Given the description of an element on the screen output the (x, y) to click on. 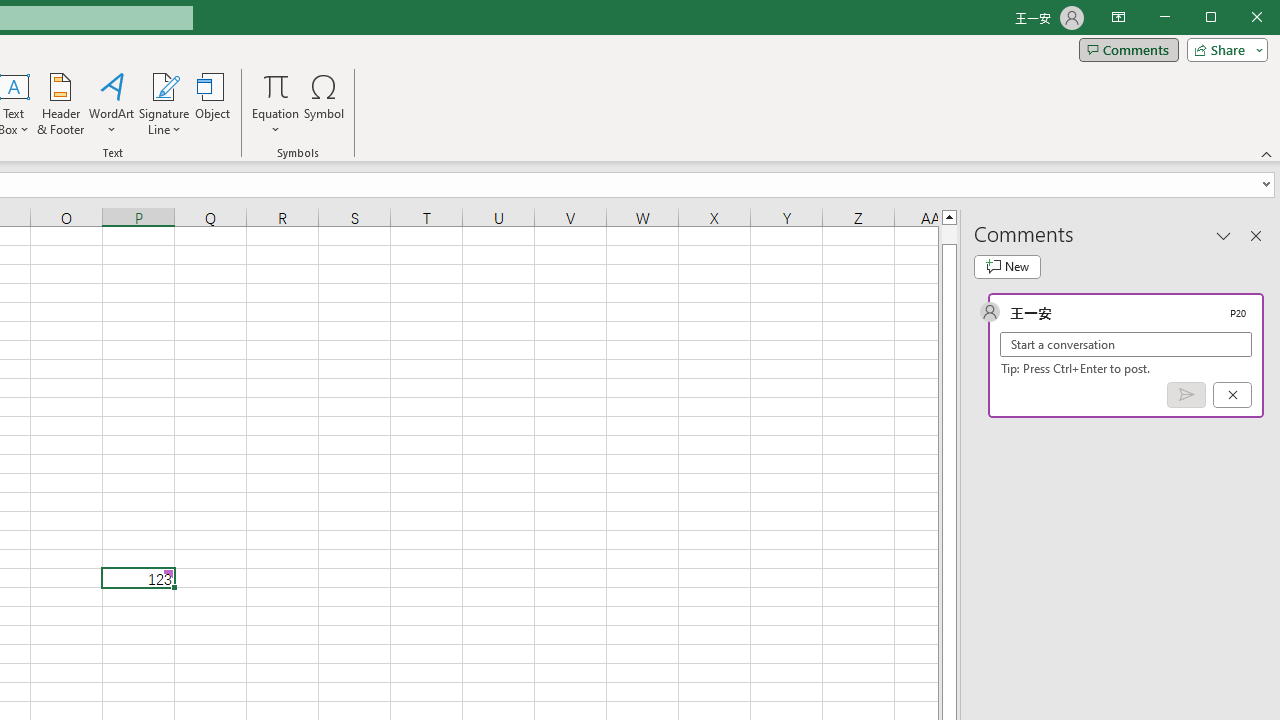
Symbol... (324, 104)
Page up (948, 234)
WordArt (111, 104)
Maximize (1239, 18)
Equation (275, 104)
Signature Line (164, 104)
